Given the description of an element on the screen output the (x, y) to click on. 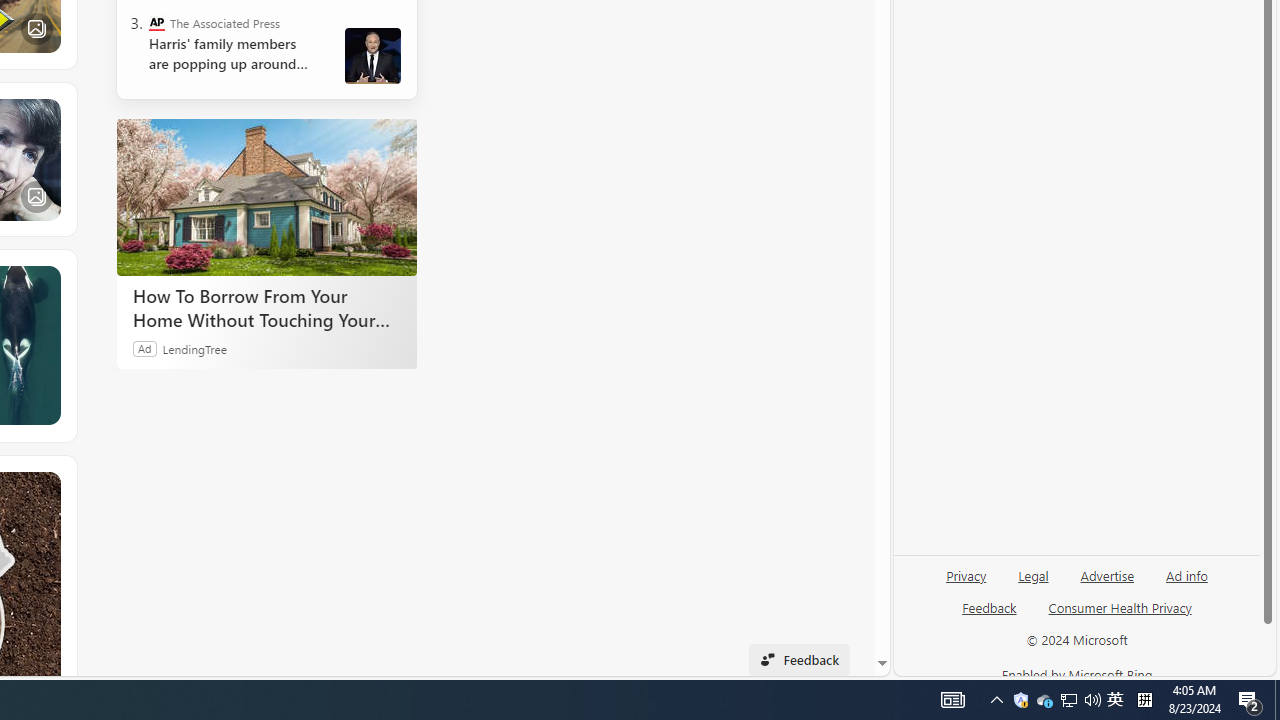
LendingTree (194, 348)
How To Borrow From Your Home Without Touching Your Mortgage (266, 196)
Consumer Health Privacy (1119, 607)
Ad info (1187, 574)
Consumer Health Privacy (1119, 615)
The Associated Press (156, 22)
